Given the description of an element on the screen output the (x, y) to click on. 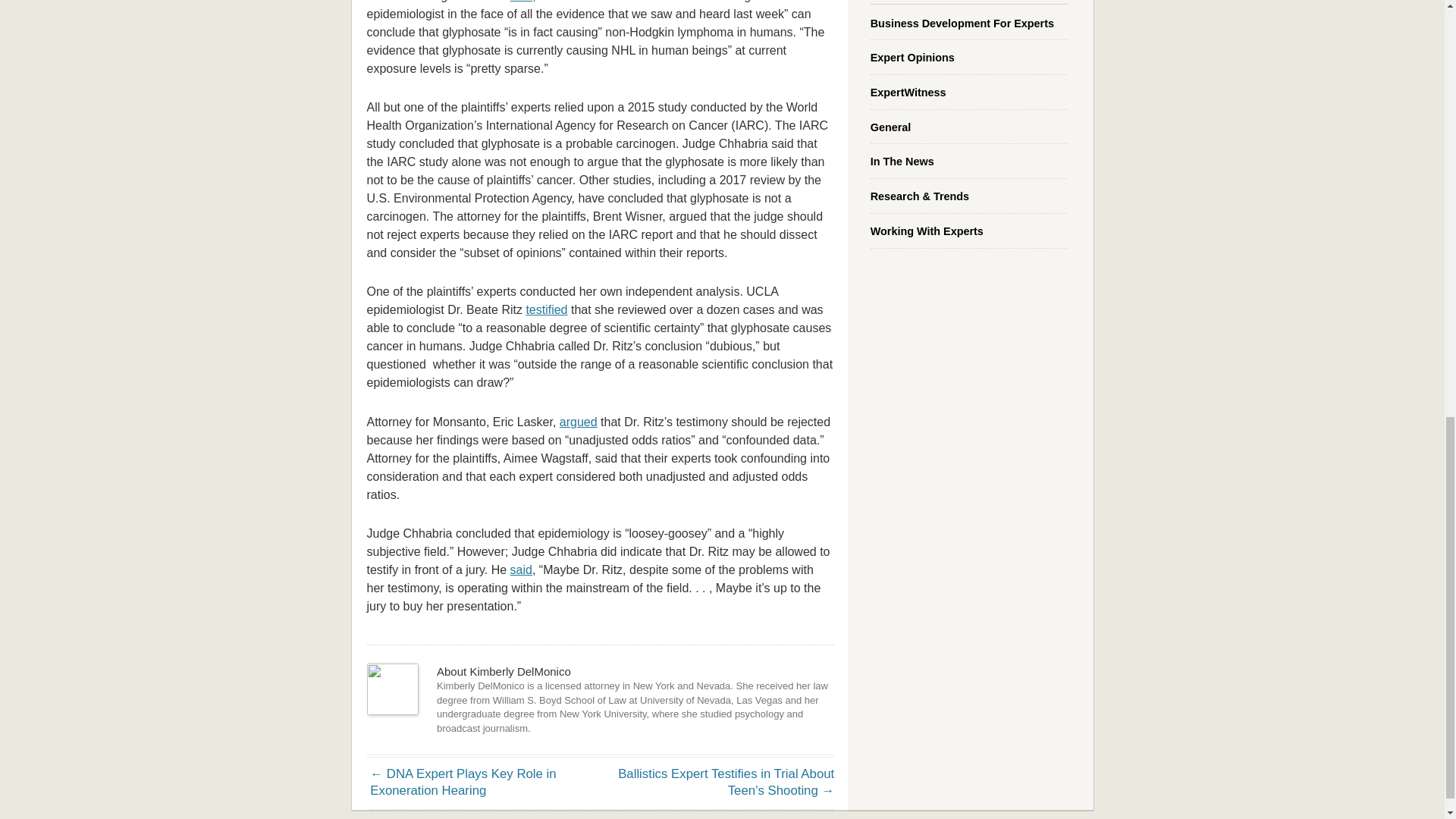
testified (546, 309)
argued (577, 421)
said (521, 1)
said (521, 569)
